Given the description of an element on the screen output the (x, y) to click on. 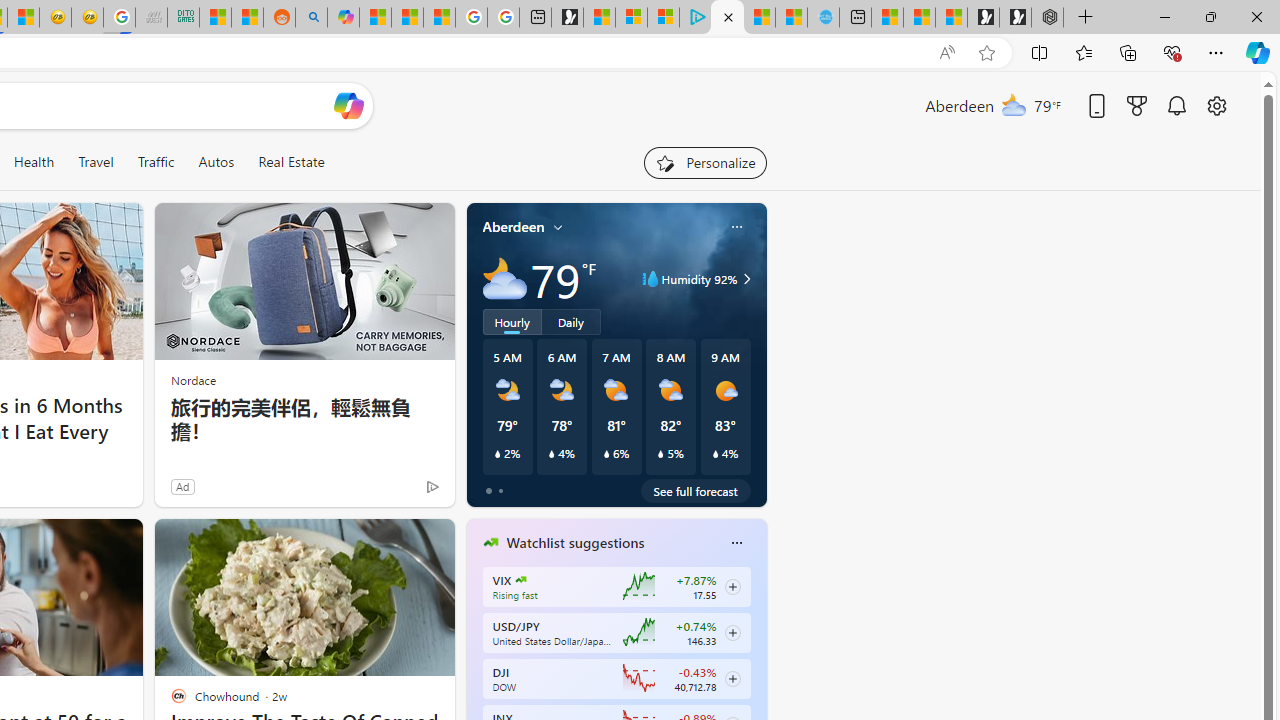
Mostly cloudy (504, 278)
See full forecast (695, 490)
Hide this story (393, 542)
Microsoft Copilot in Bing (343, 17)
